Given the description of an element on the screen output the (x, y) to click on. 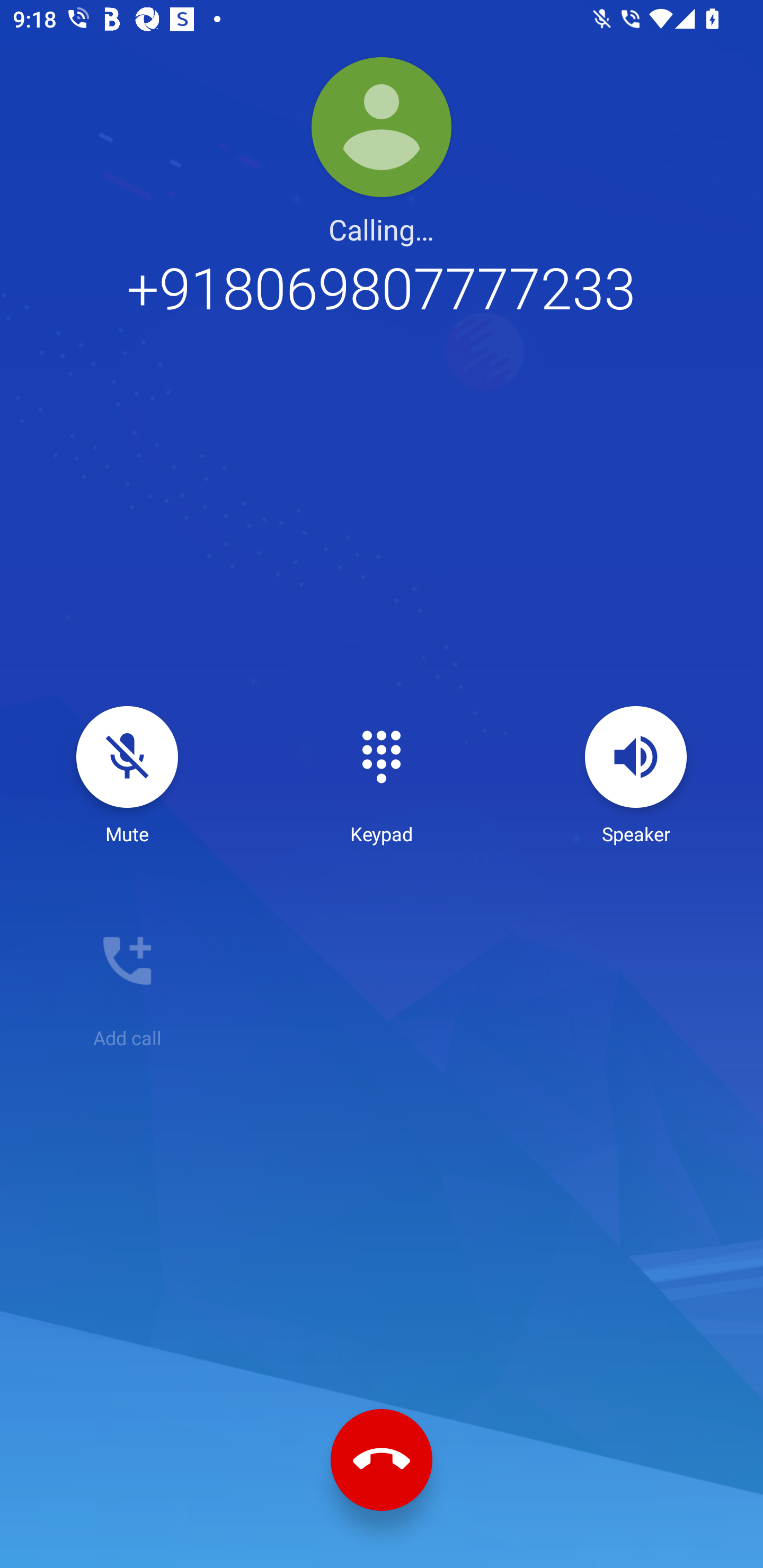
Muted Mute (127, 775)
Keypad (381, 775)
Speaker, is on Speaker (635, 775)
Add call (127, 979)
End call (381, 1460)
